Given the description of an element on the screen output the (x, y) to click on. 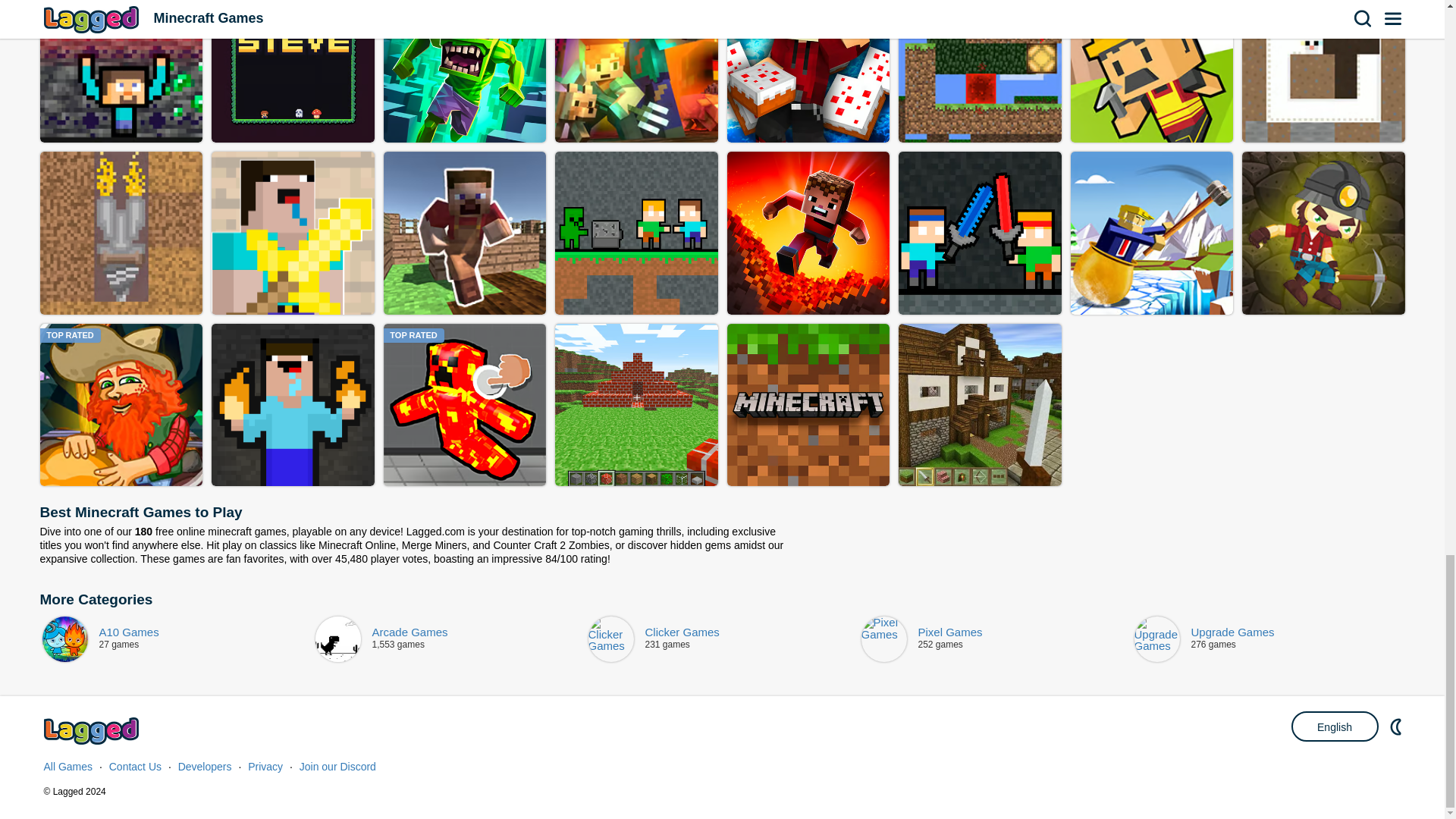
Pixel Games (996, 638)
Clicker Games (723, 638)
Lagged.com (92, 730)
A10 Games (177, 638)
Arcade Games (450, 638)
Upgrade Games (1269, 638)
